Given the description of an element on the screen output the (x, y) to click on. 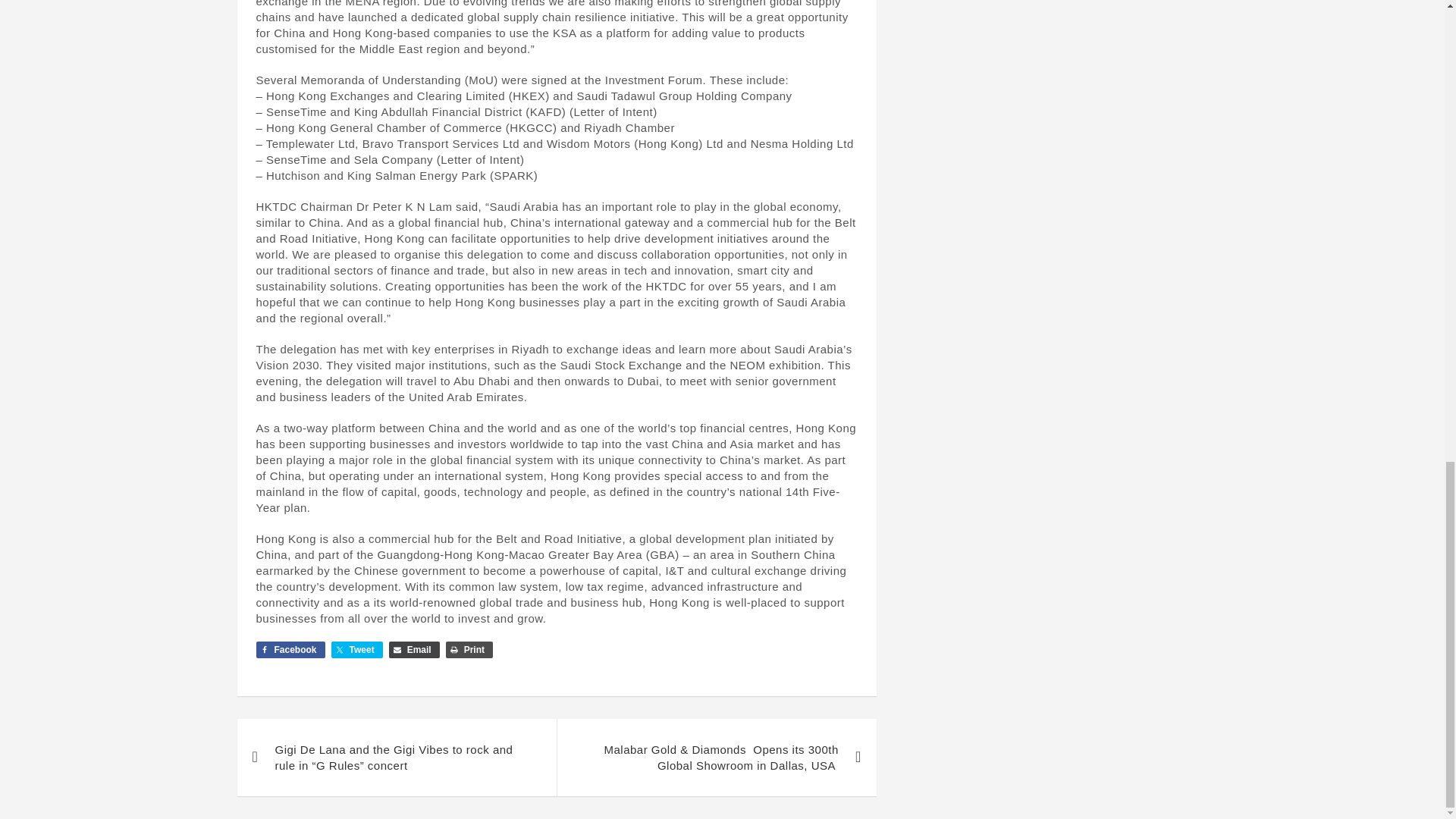
Share on Facebook (290, 649)
Share on Twitter (356, 649)
Share via Email (413, 649)
Email (413, 649)
Print this Page (469, 649)
